Given the description of an element on the screen output the (x, y) to click on. 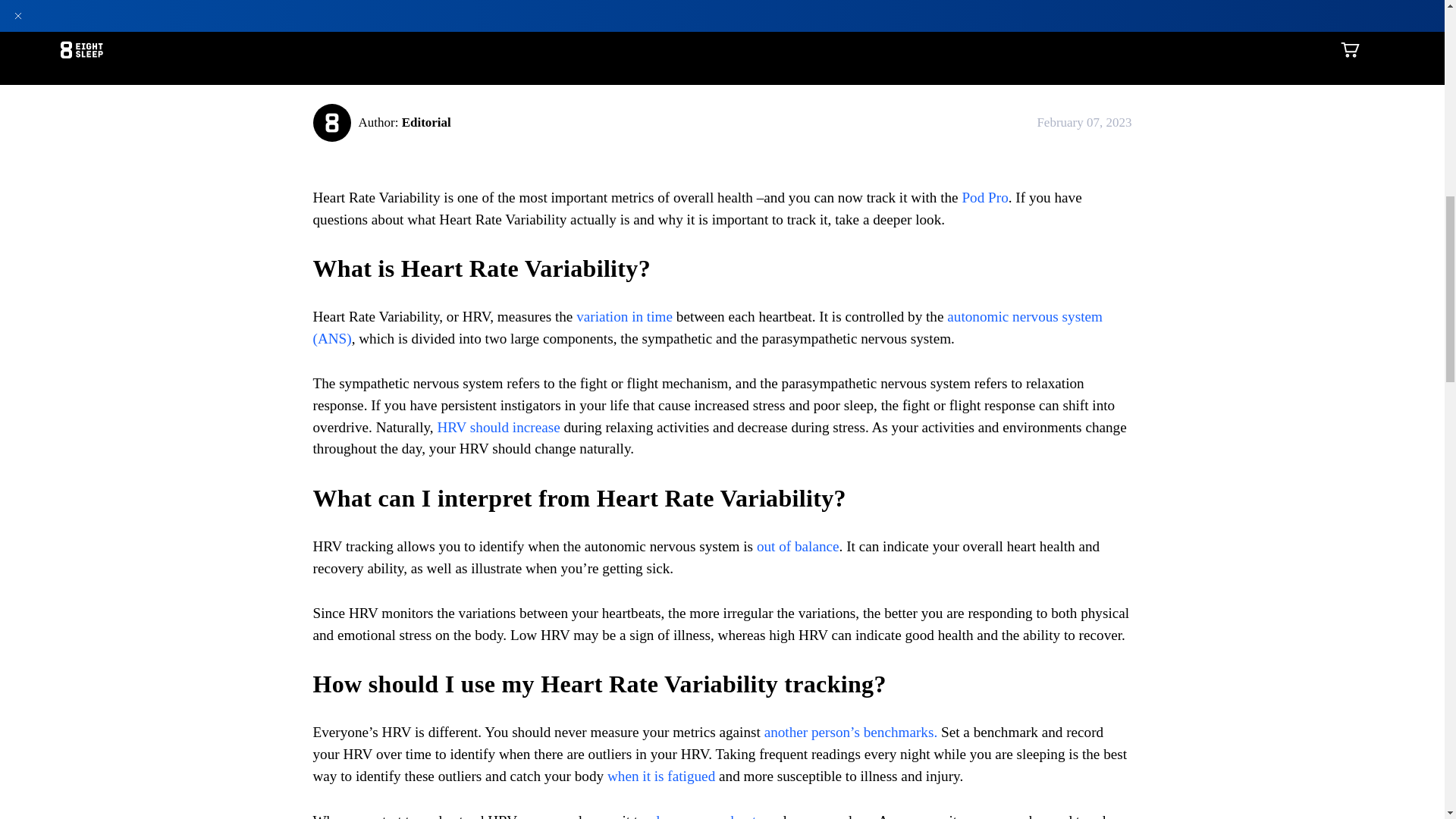
Pod Pro (983, 197)
plan your workouts (705, 816)
Editorial (426, 122)
HRV should increase (497, 426)
out of balance (798, 546)
variation in time (624, 316)
when it is fatigued (660, 775)
